Given the description of an element on the screen output the (x, y) to click on. 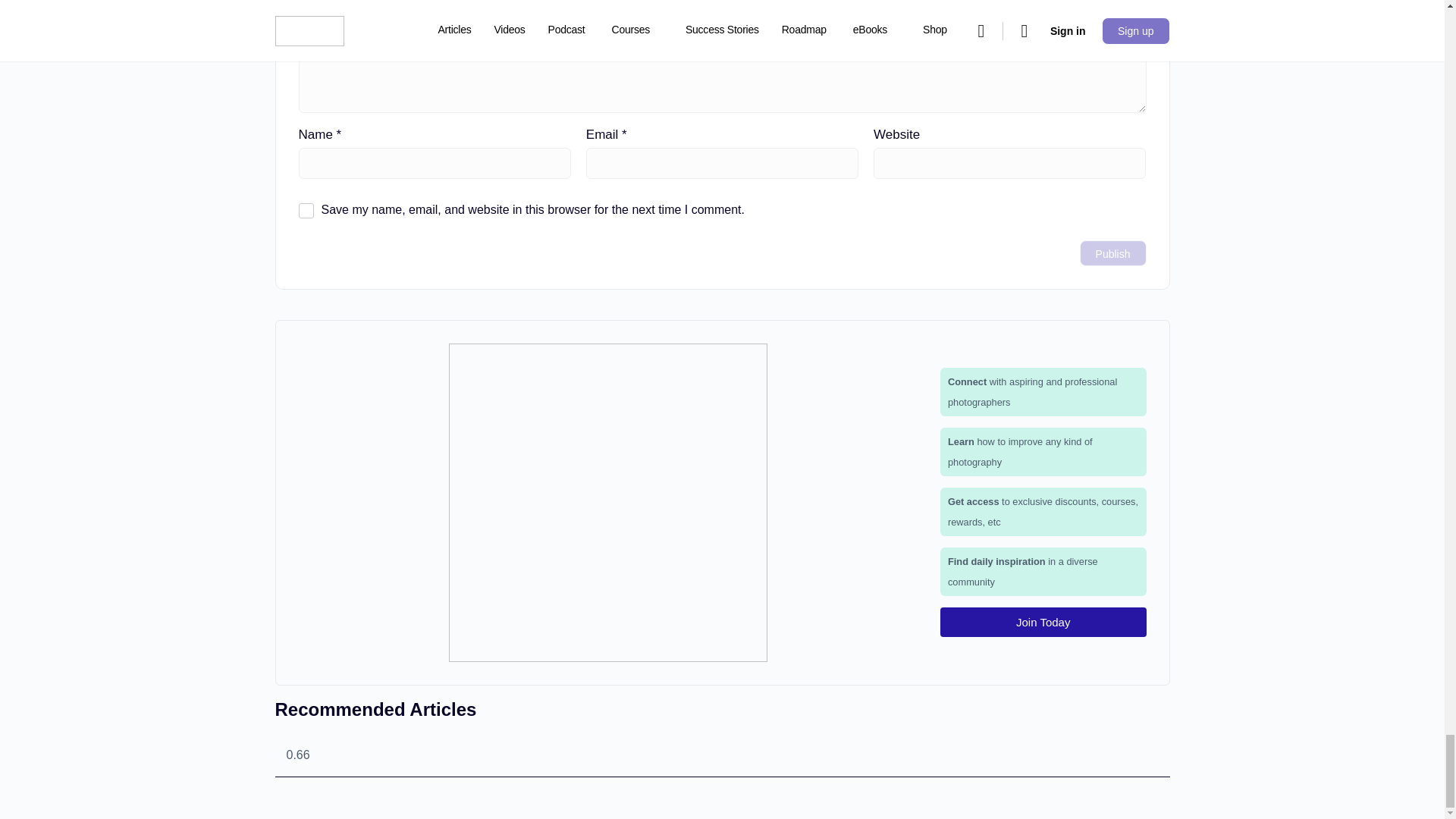
Publish (1113, 253)
